Given the description of an element on the screen output the (x, y) to click on. 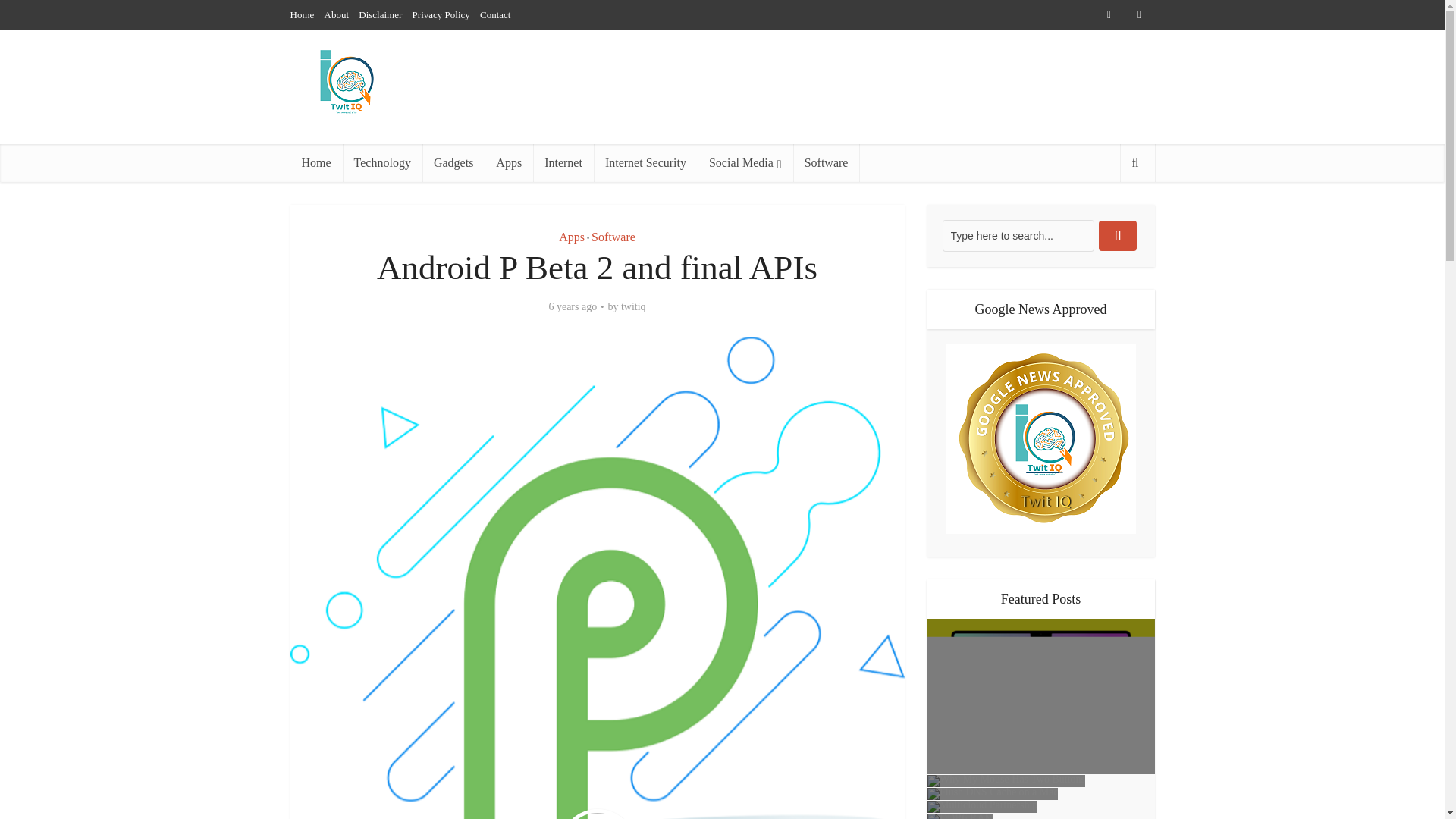
Internet (563, 162)
Type here to search... (1017, 235)
Gadgets (453, 162)
Software (612, 236)
Apps (508, 162)
Software (826, 162)
Home (301, 14)
Social Media (745, 162)
Internet Security (645, 162)
Privacy Policy (441, 14)
